Given the description of an element on the screen output the (x, y) to click on. 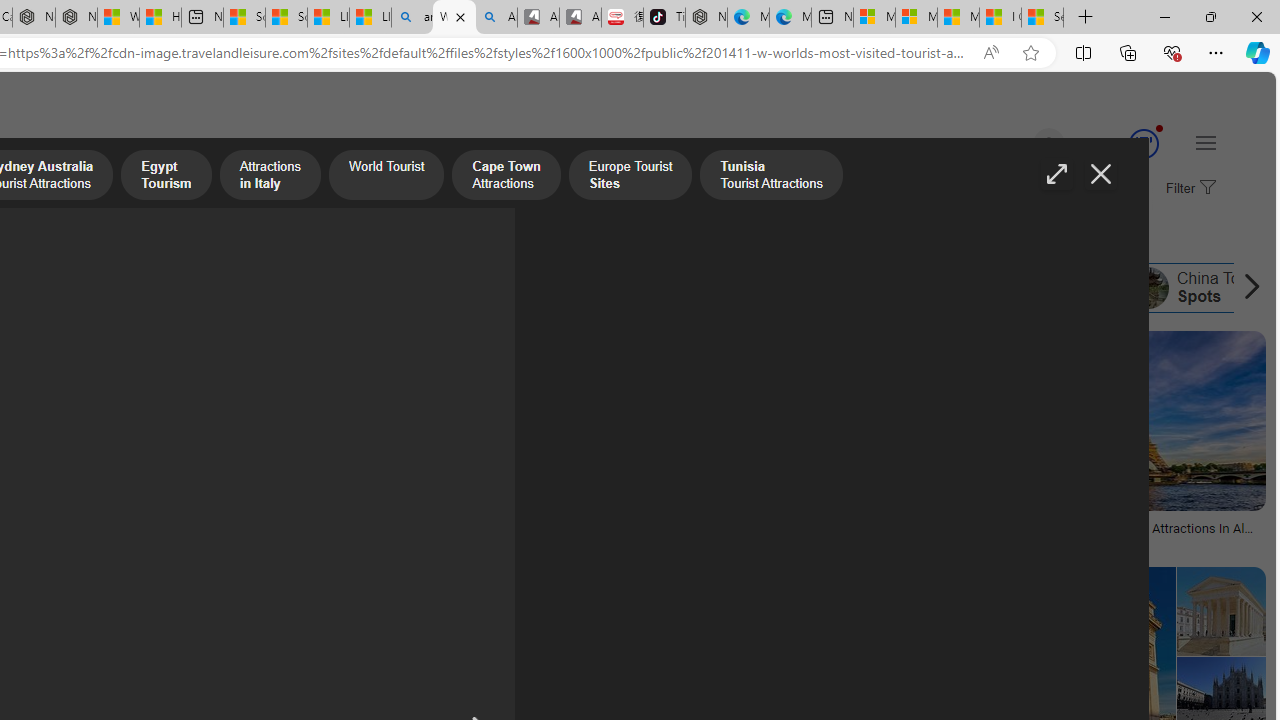
Amazon Echo Robot - Search Images (496, 17)
Filter (1188, 189)
Europe Tourist Sites (261, 287)
Top 10 Most Popular Cities In The Us - www.inf-inet.com (575, 534)
All Cubot phones (580, 17)
WorldAtlas (1044, 541)
